Given the description of an element on the screen output the (x, y) to click on. 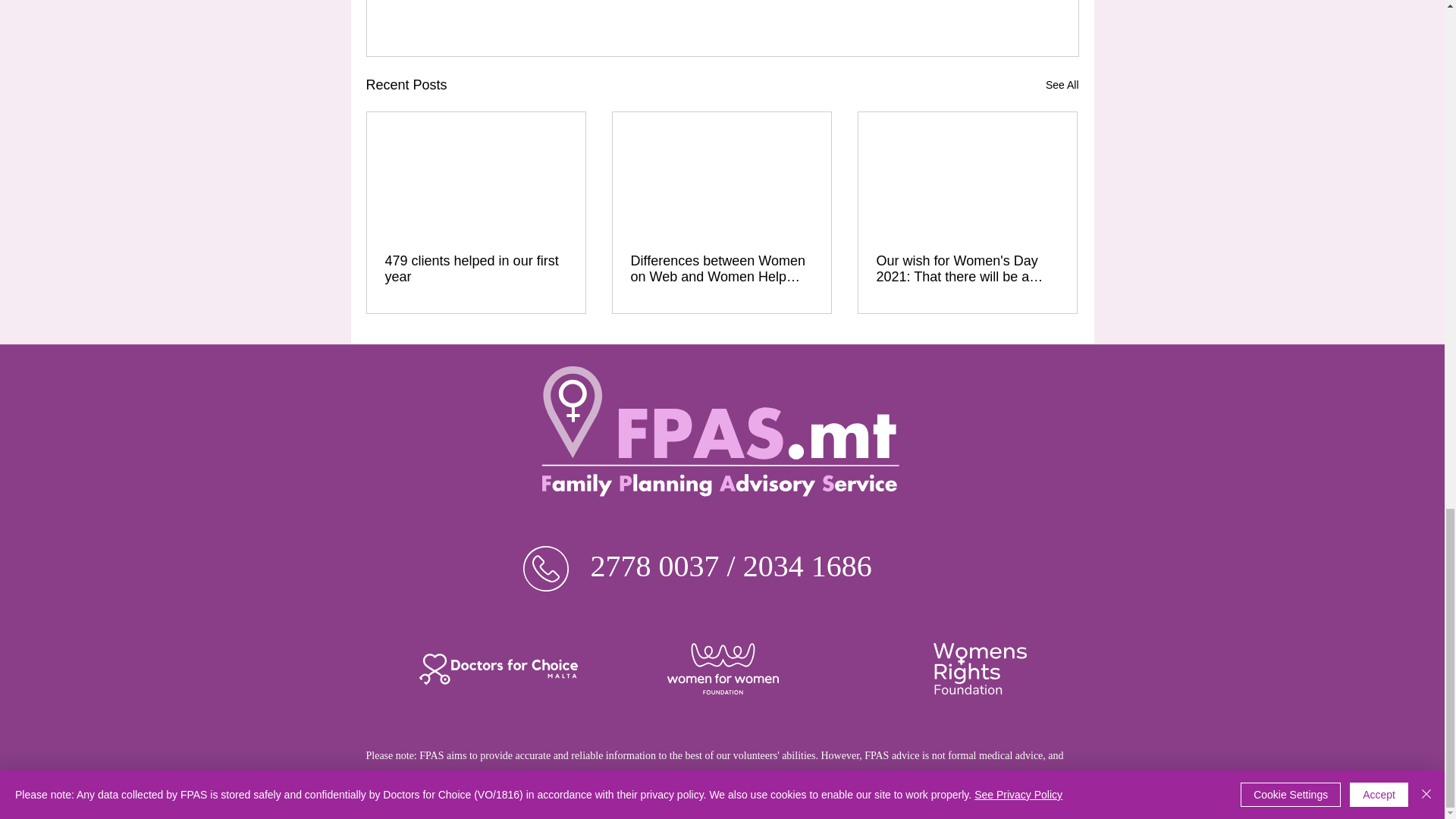
479 clients helped in our first year (476, 269)
2034 1686 (807, 565)
Differences between Women on Web and Women Help Women (721, 269)
2778 0037 (654, 565)
See All (1061, 85)
